Given the description of an element on the screen output the (x, y) to click on. 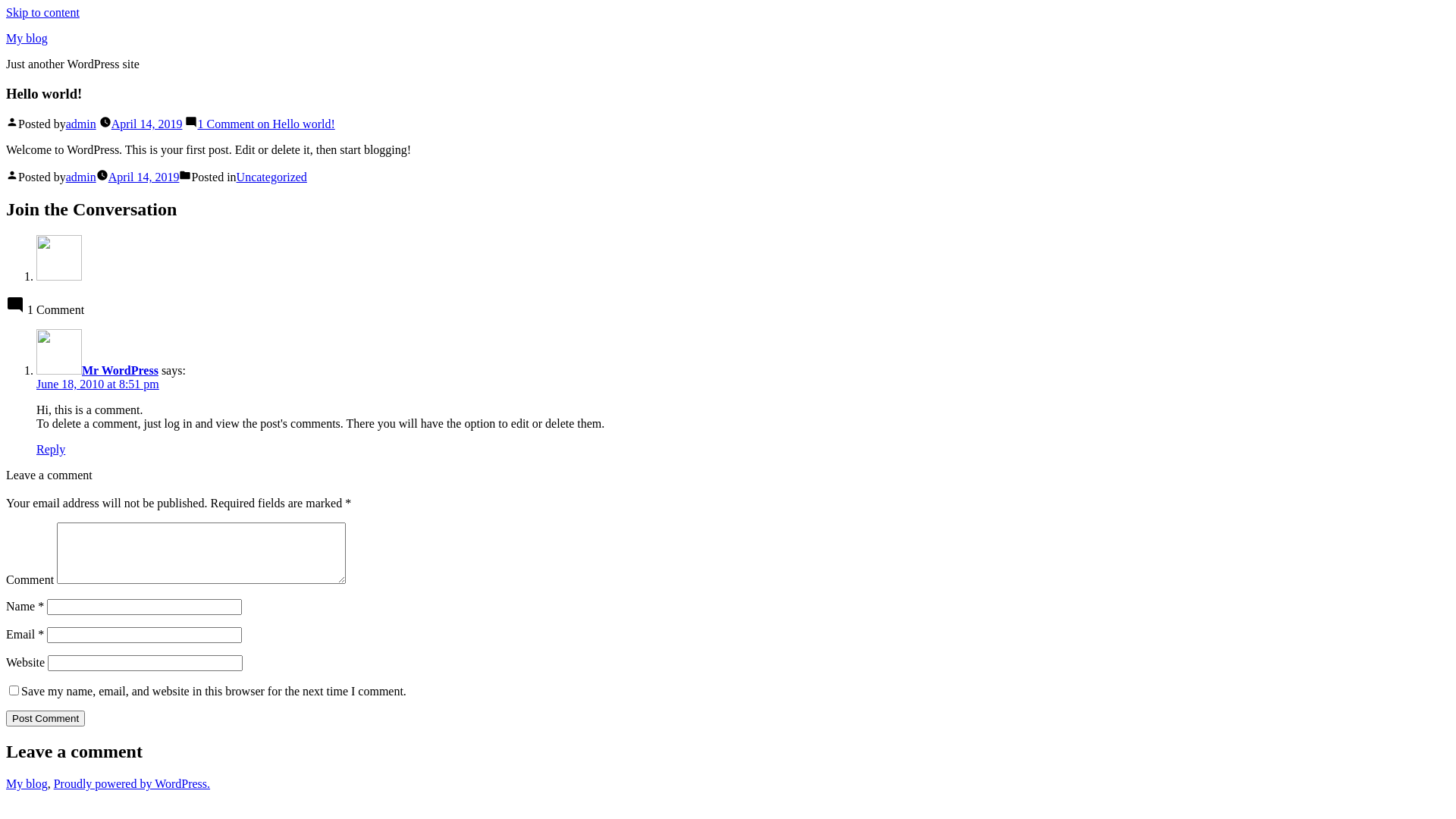
April 14, 2019 Element type: text (146, 123)
Post Comment Element type: text (45, 718)
admin Element type: text (80, 123)
My blog Element type: text (26, 783)
June 18, 2010 at 8:51 pm Element type: text (97, 383)
Skip to content Element type: text (42, 12)
Uncategorized Element type: text (271, 176)
Proudly powered by WordPress. Element type: text (131, 783)
Reply Element type: text (50, 448)
Mr WordPress Element type: text (119, 370)
My blog Element type: text (26, 37)
April 14, 2019 Element type: text (143, 176)
admin Element type: text (80, 176)
1 Comment on Hello world! Element type: text (265, 123)
